Given the description of an element on the screen output the (x, y) to click on. 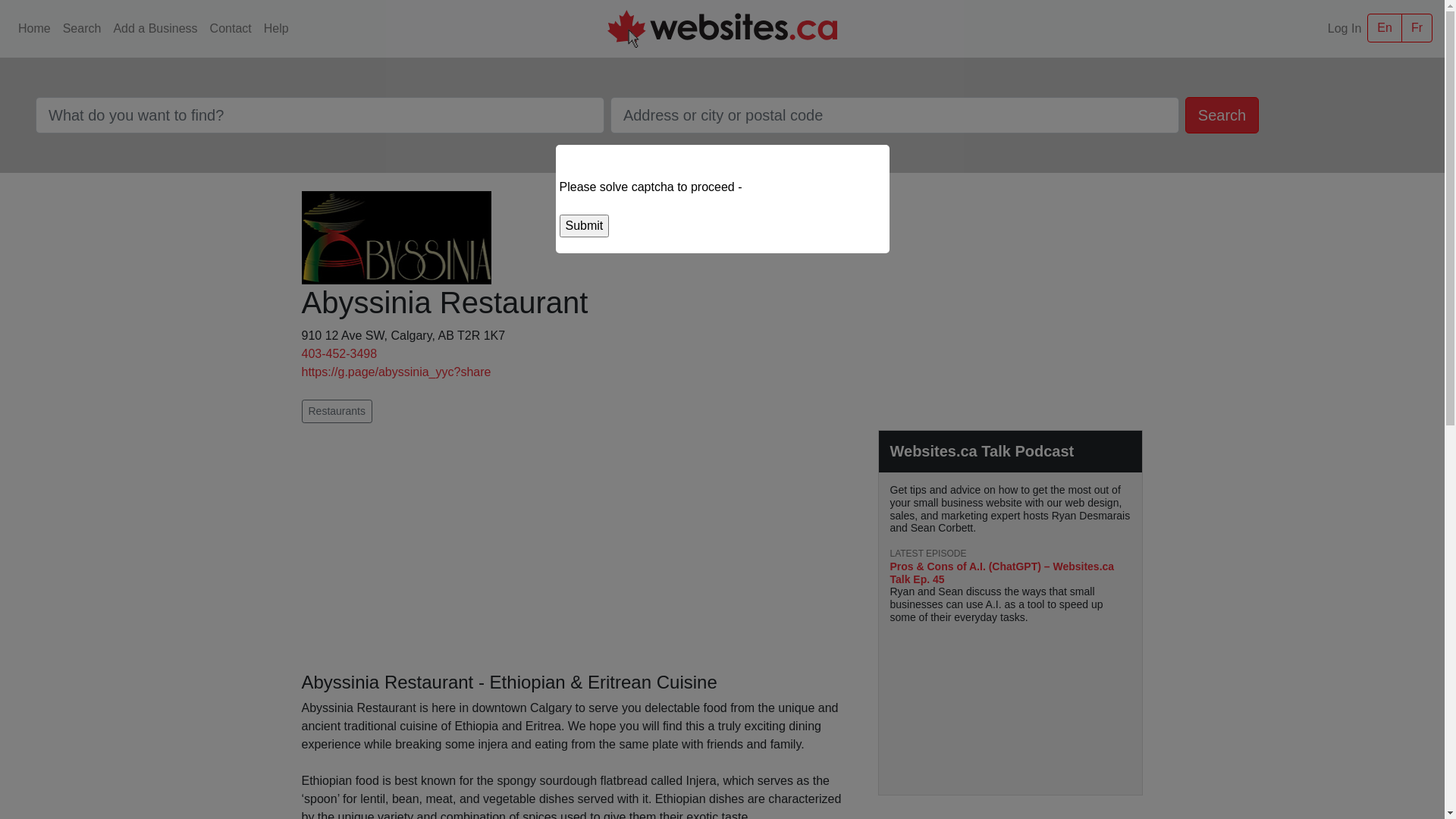
Fr Element type: text (1416, 27)
Restaurants Element type: text (336, 410)
Search Element type: text (1221, 115)
Home Element type: text (34, 28)
Search Element type: text (81, 28)
403-452-3498 Element type: text (339, 353)
Add a Business Element type: text (154, 28)
YouTube video player Element type: hover (1010, 703)
Submit Element type: text (584, 224)
Advertisement Element type: hover (578, 547)
Log In Element type: text (1344, 28)
En Element type: text (1384, 27)
Help Element type: text (275, 28)
Websites.ca Talk Podcast Element type: text (982, 450)
Advertisement Element type: hover (1010, 297)
Contact Element type: text (230, 28)
https://g.page/abyssinia_yyc?share Element type: text (396, 371)
